Given the description of an element on the screen output the (x, y) to click on. 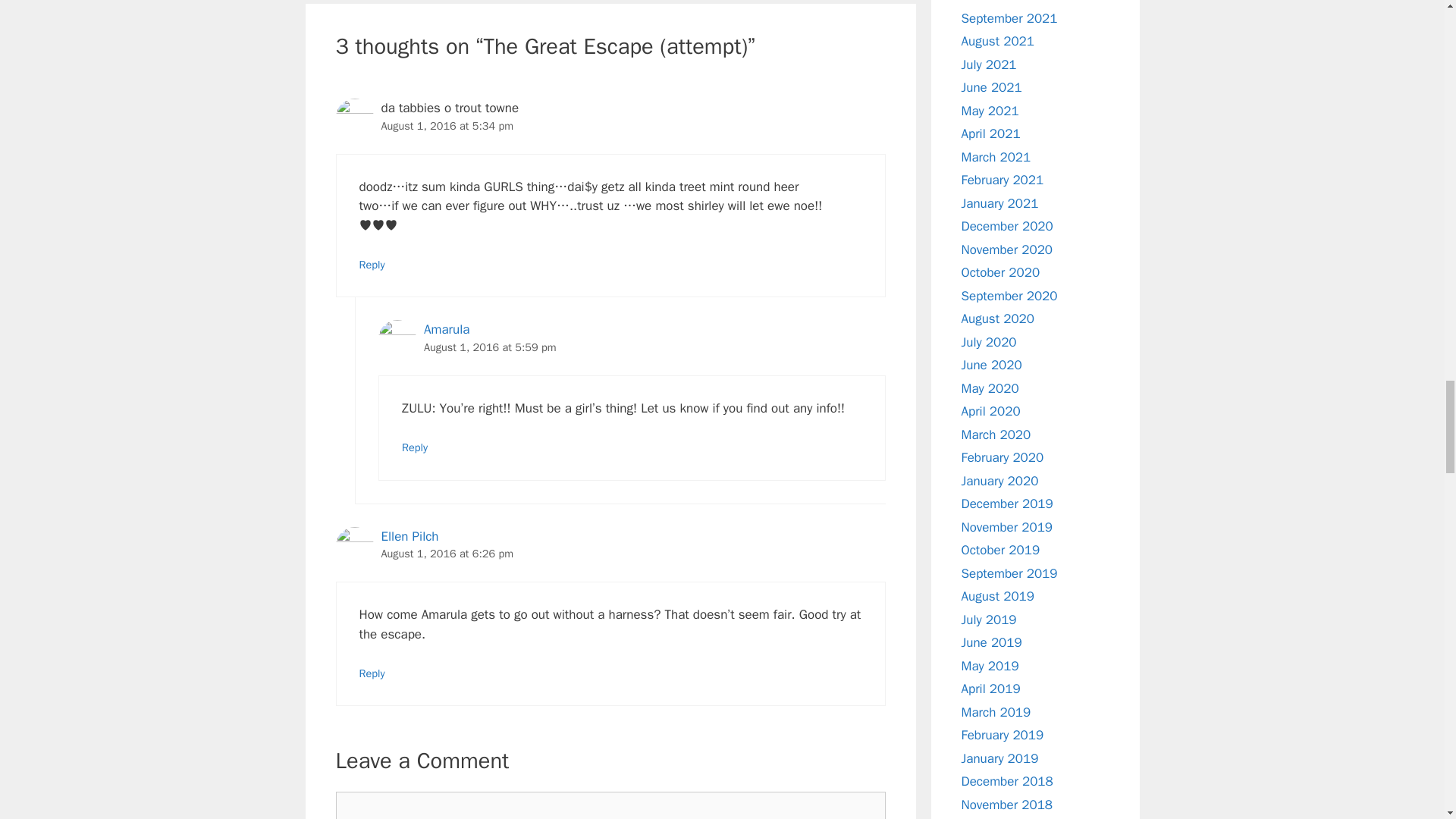
Ellen Pilch (409, 536)
Reply (372, 673)
Amarula (445, 329)
Reply (372, 264)
August 1, 2016 at 5:34 pm (446, 125)
Reply (414, 447)
August 1, 2016 at 5:59 pm (489, 346)
August 1, 2016 at 6:26 pm (446, 553)
